Given the description of an element on the screen output the (x, y) to click on. 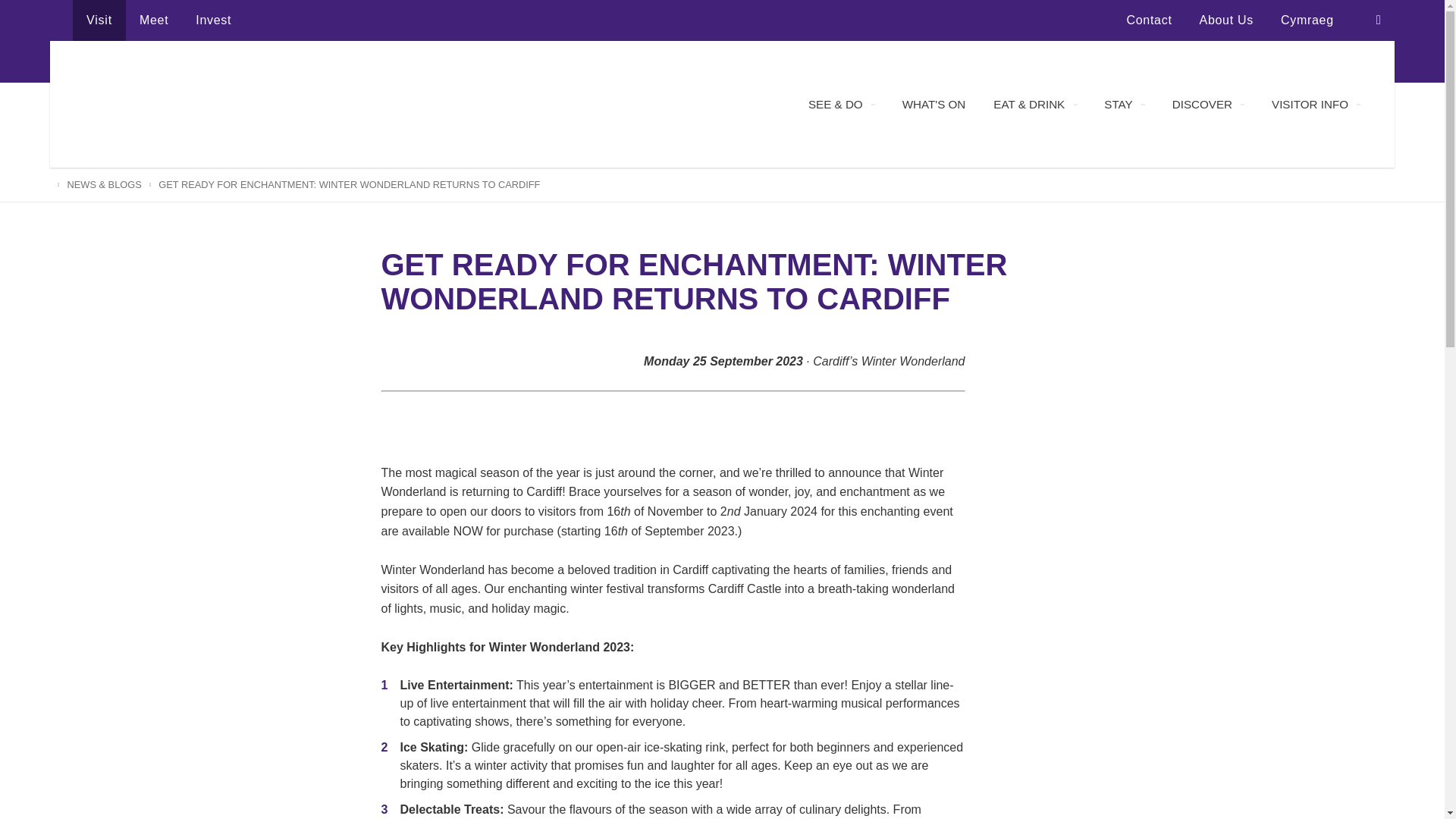
About Us (1226, 20)
Cymraeg (1307, 20)
Visit (98, 20)
Contact (1149, 20)
Invest (213, 20)
Meet (153, 20)
